Given the description of an element on the screen output the (x, y) to click on. 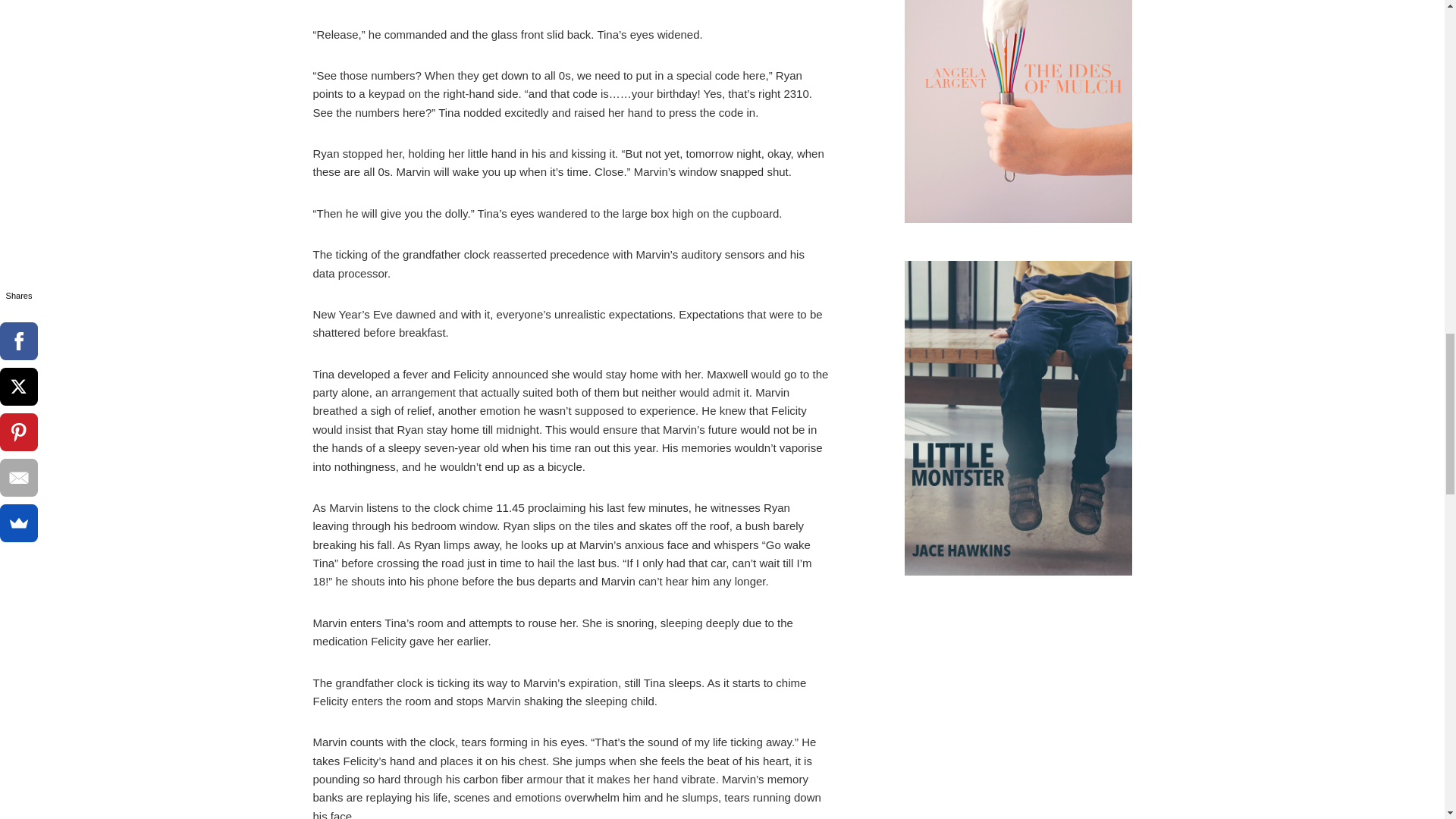
The Ides of Mulch (1017, 114)
